Given the description of an element on the screen output the (x, y) to click on. 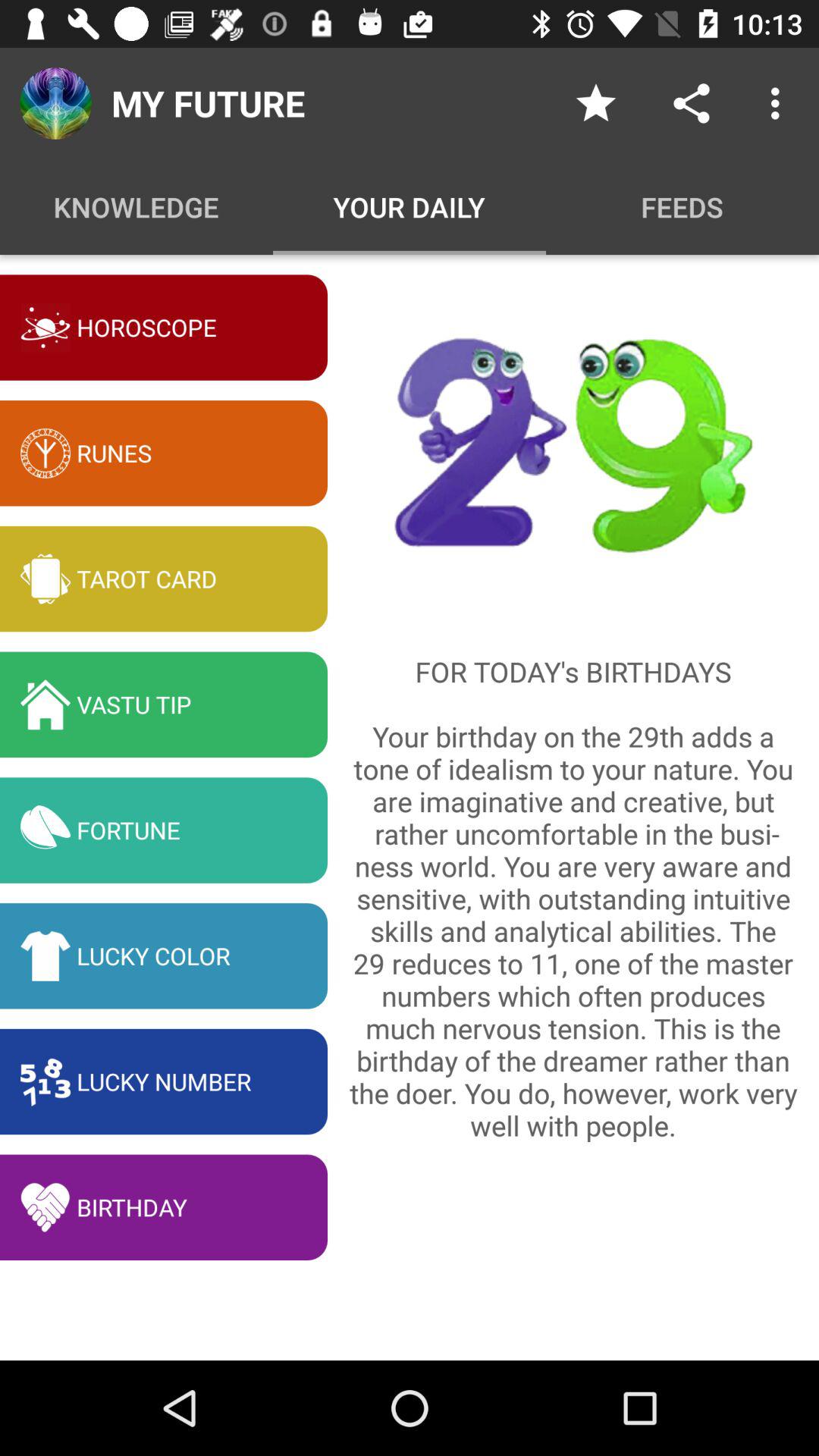
sharing various things concerning the date (691, 103)
